Given the description of an element on the screen output the (x, y) to click on. 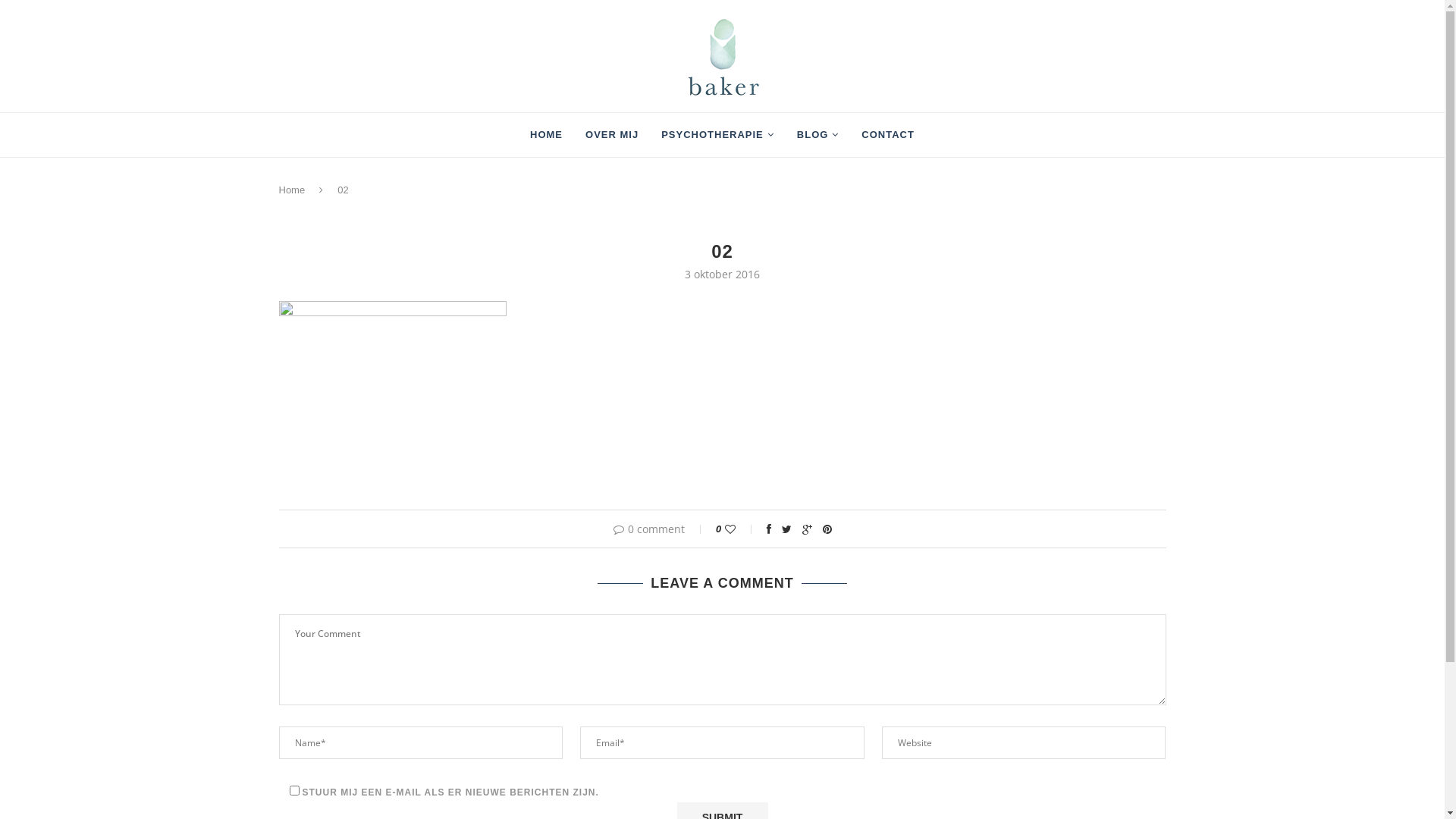
BLOG Element type: text (818, 134)
Home Element type: text (292, 189)
Like Element type: hover (740, 528)
PSYCHOTHERAPIE Element type: text (717, 134)
HOME Element type: text (546, 134)
CONTACT Element type: text (887, 134)
OVER MIJ Element type: text (611, 134)
